Given the description of an element on the screen output the (x, y) to click on. 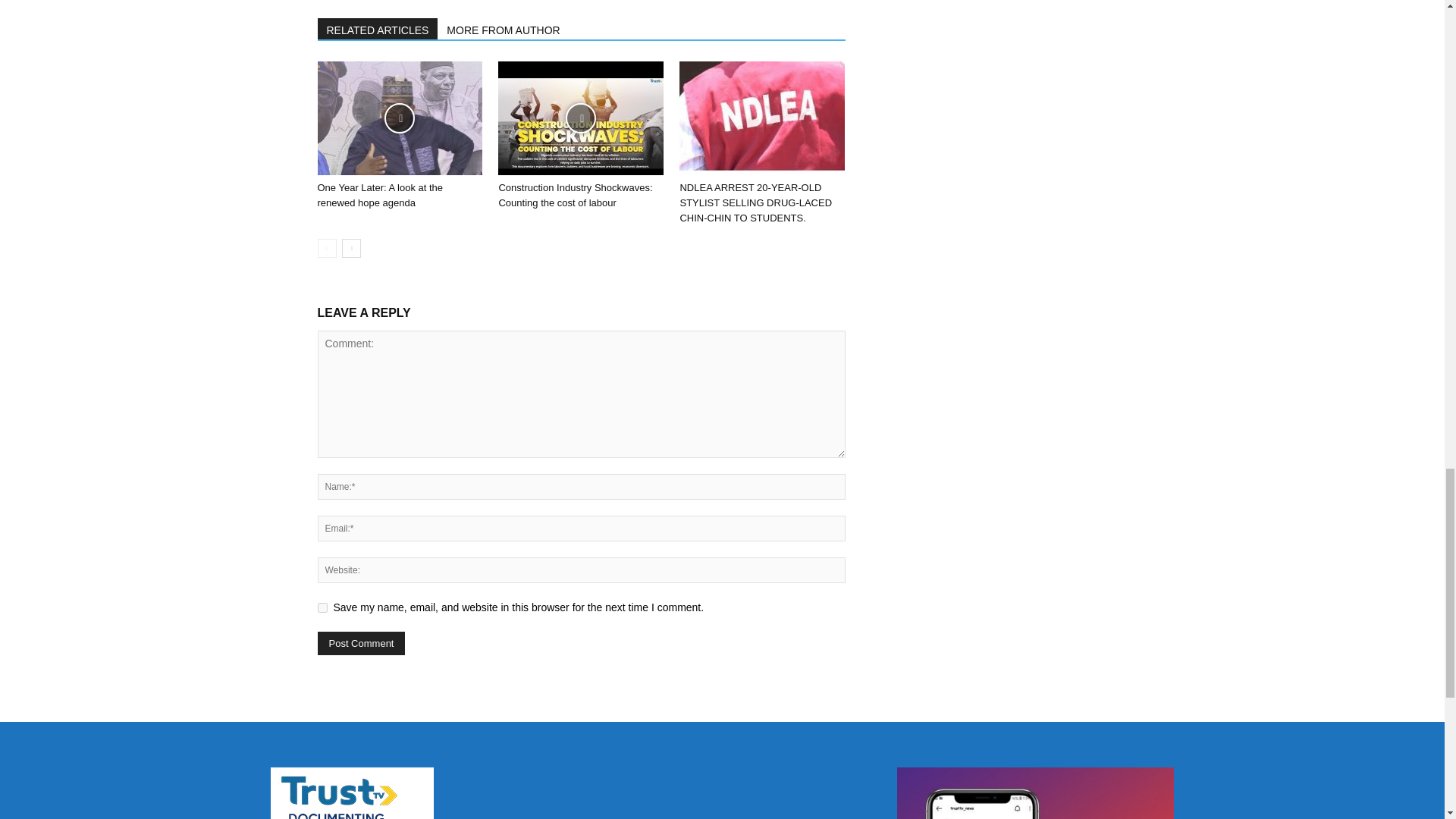
Post Comment (360, 643)
yes (321, 607)
